Given the description of an element on the screen output the (x, y) to click on. 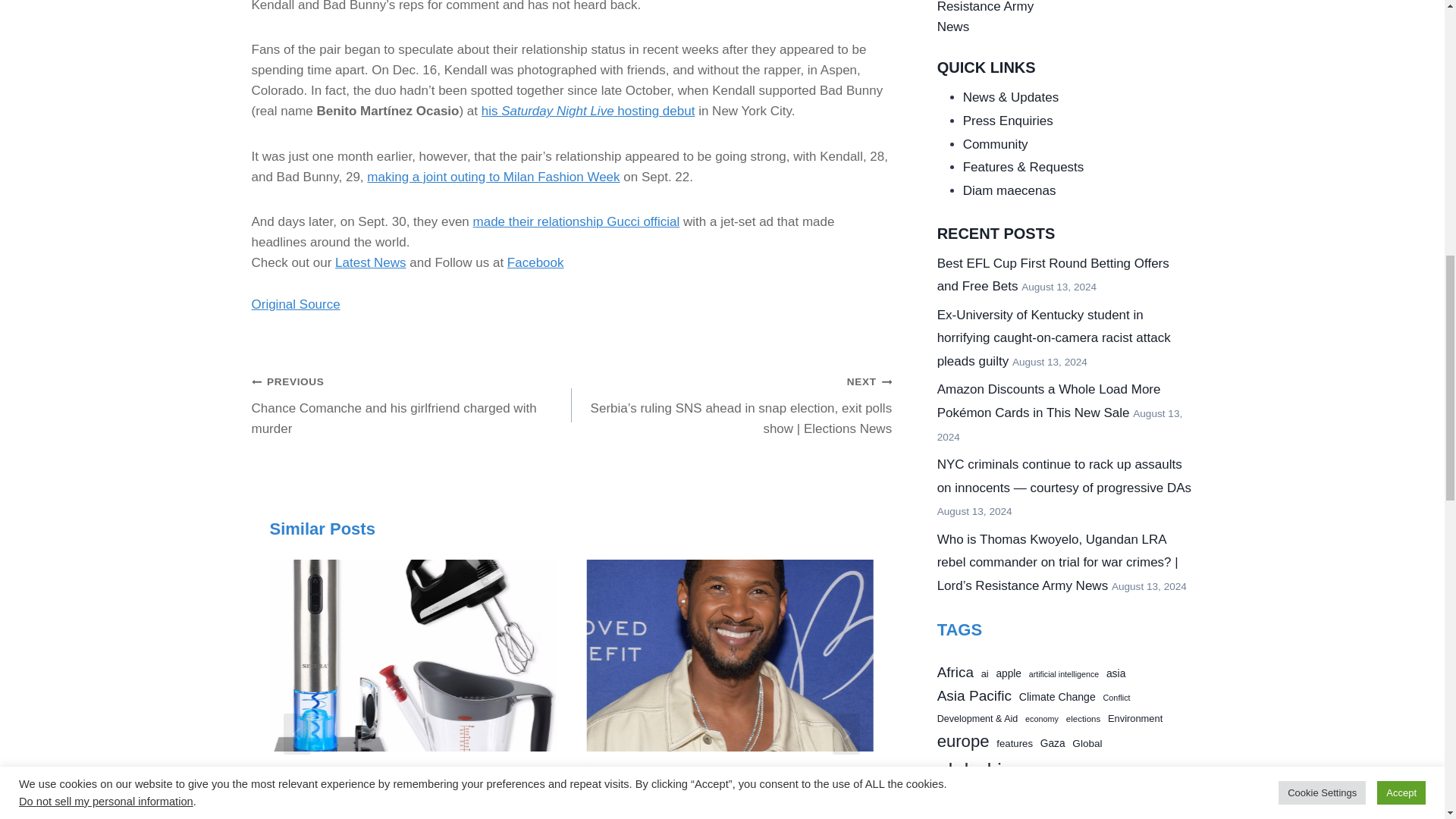
Latest News (370, 262)
his Saturday Night Live hosting debut (588, 110)
making a joint outing to Milan Fashion Week (493, 176)
Facebook (535, 262)
made their relationship Gucci official (576, 221)
Original Source (295, 304)
